Given the description of an element on the screen output the (x, y) to click on. 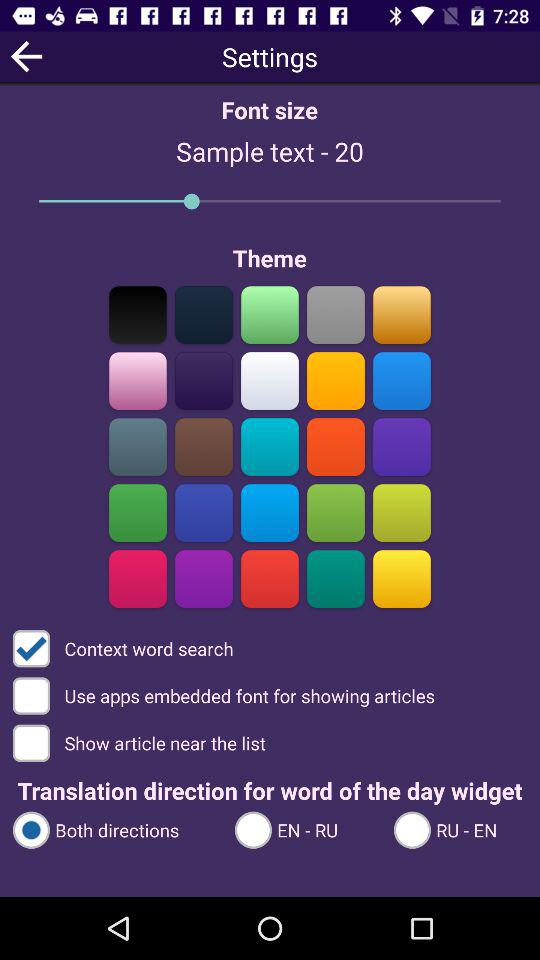
choose color for theme (203, 446)
